Given the description of an element on the screen output the (x, y) to click on. 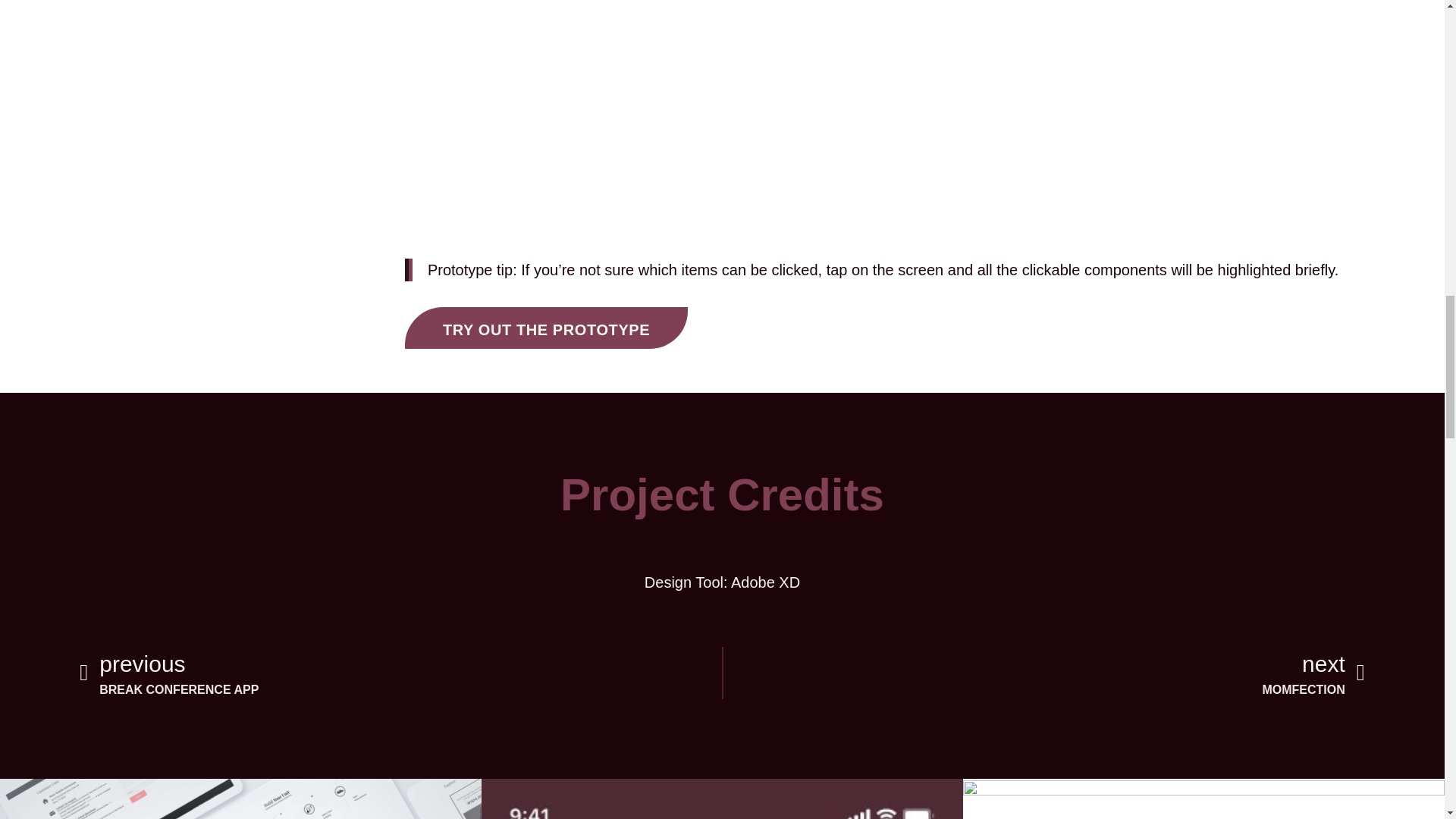
TRY OUT THE PROTOTYPE (400, 673)
